Given the description of an element on the screen output the (x, y) to click on. 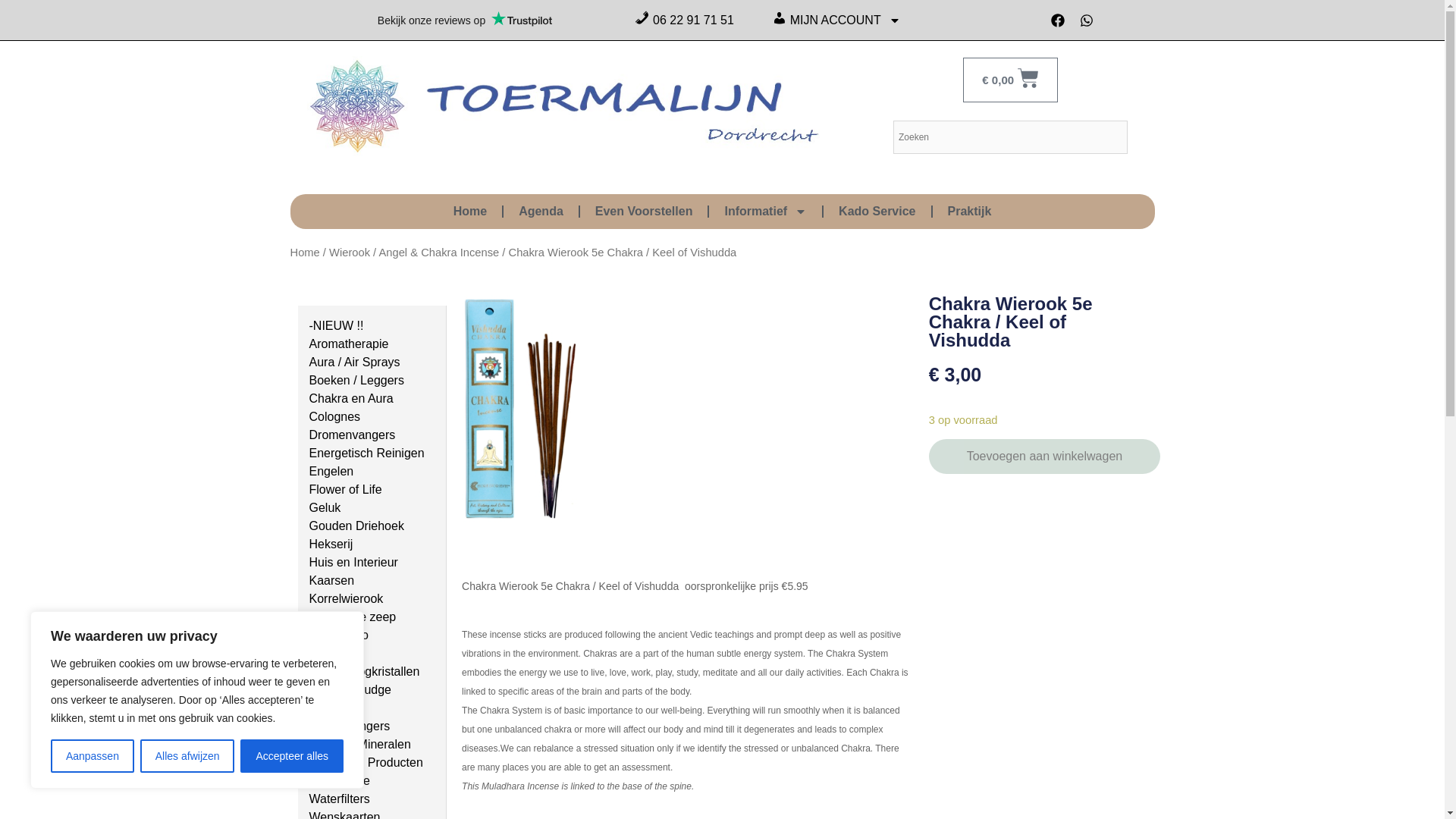
Aanpassen (91, 756)
MIJN ACCOUNT (836, 19)
Customer reviews powered by Trustpilot (464, 19)
Even Voorstellen (643, 211)
06 22 91 71 51 (683, 19)
Home (470, 211)
Agenda (540, 211)
Accepteer alles (291, 756)
Informatief (765, 211)
Alles afwijzen (186, 756)
